Given the description of an element on the screen output the (x, y) to click on. 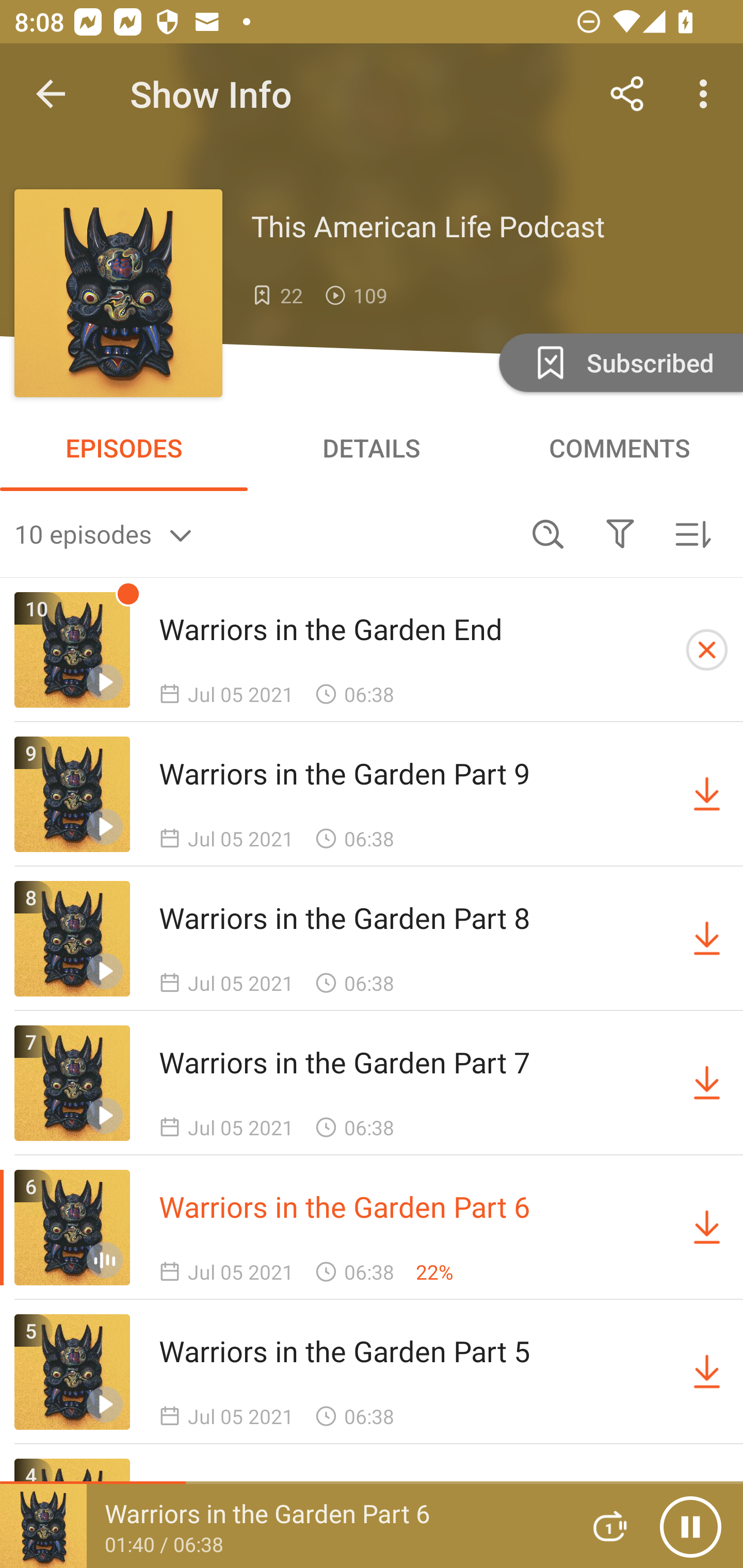
Navigate up (50, 93)
Share (626, 93)
More options (706, 93)
Unsubscribe Subscribed (619, 361)
EPISODES (123, 447)
DETAILS (371, 447)
COMMENTS (619, 447)
10 episodes  (262, 533)
 Search (547, 533)
 (619, 533)
 Sorted by newest first (692, 533)
Cancel Downloading (706, 649)
Download (706, 793)
Download (706, 939)
Download (706, 1083)
Download (706, 1227)
Download (706, 1371)
Warriors in the Garden Part 6 01:40 / 06:38 (283, 1525)
Pause (690, 1526)
